Given the description of an element on the screen output the (x, y) to click on. 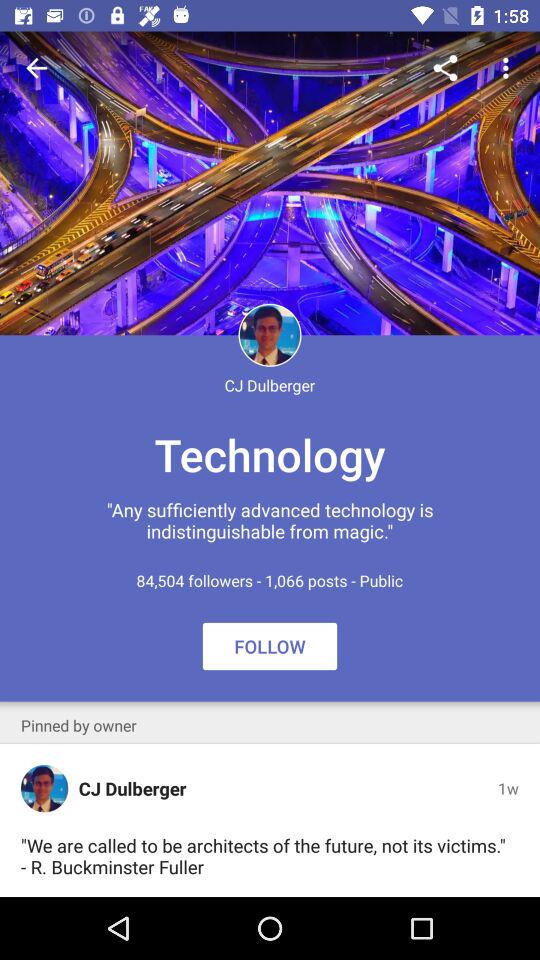
press the pinned by owner (78, 725)
